Given the description of an element on the screen output the (x, y) to click on. 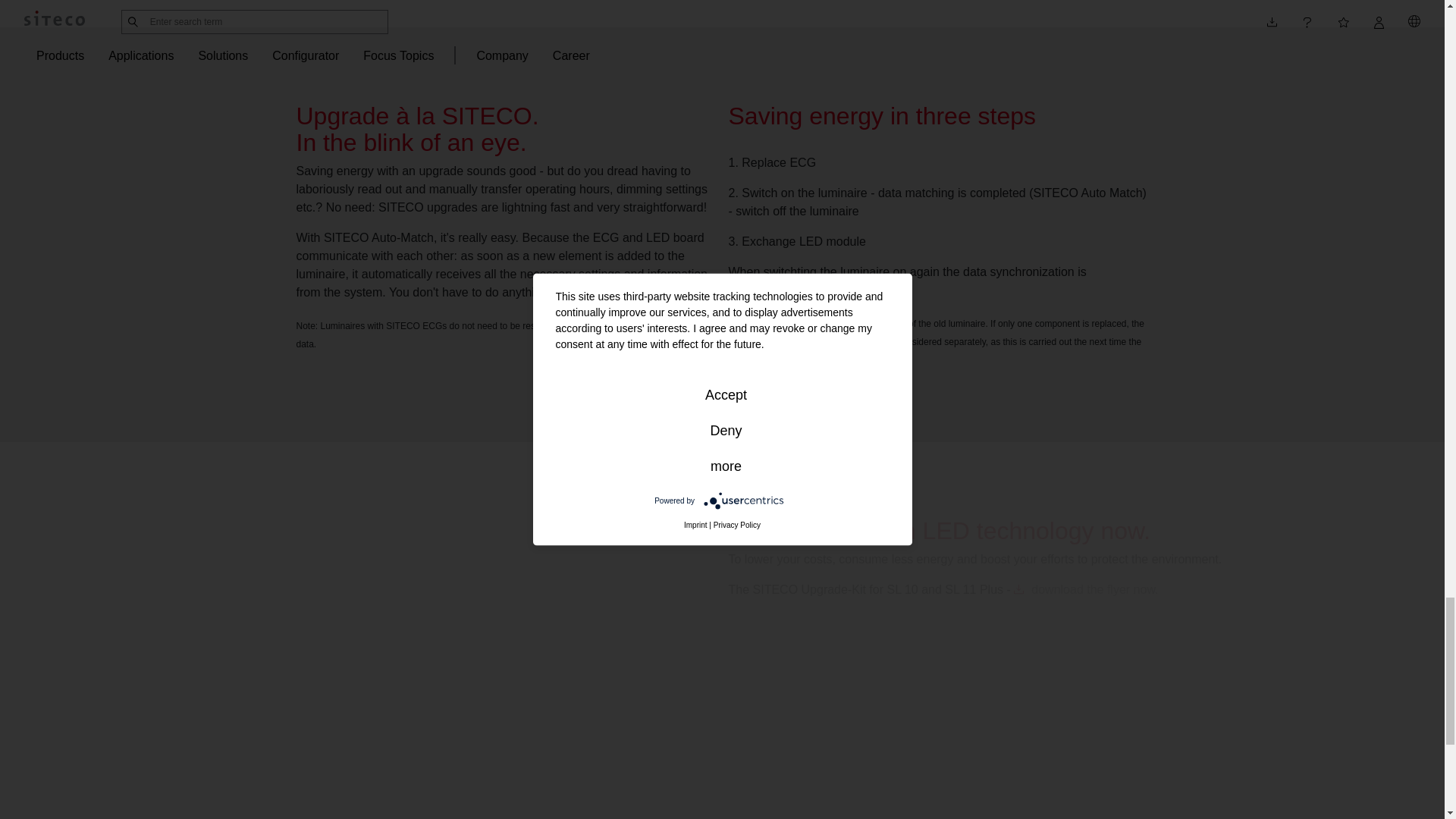
Datei herunterladen (1087, 589)
